Given the description of an element on the screen output the (x, y) to click on. 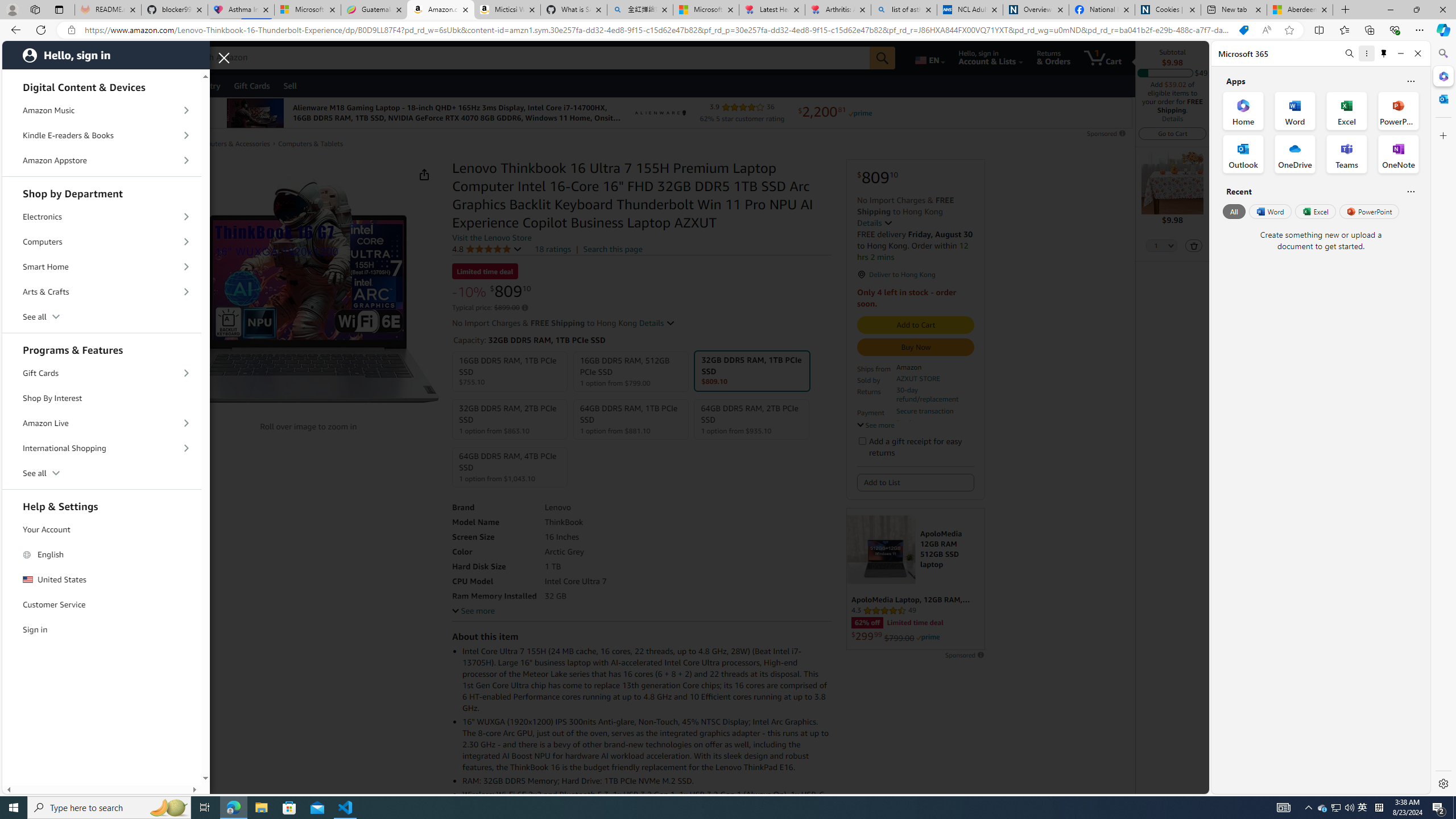
Amazon Live (101, 422)
Product support included (934, 427)
Add a gift receipt for easy returns (862, 440)
4.8 4.8 out of 5 stars (487, 248)
Your Account (101, 529)
Excel Office App (1346, 110)
list of asthma inhalers uk - Search (904, 9)
Search this page (612, 248)
Computers (101, 242)
Asthma Inhalers: Names and Types (240, 9)
Arts & Crafts (101, 291)
